Given the description of an element on the screen output the (x, y) to click on. 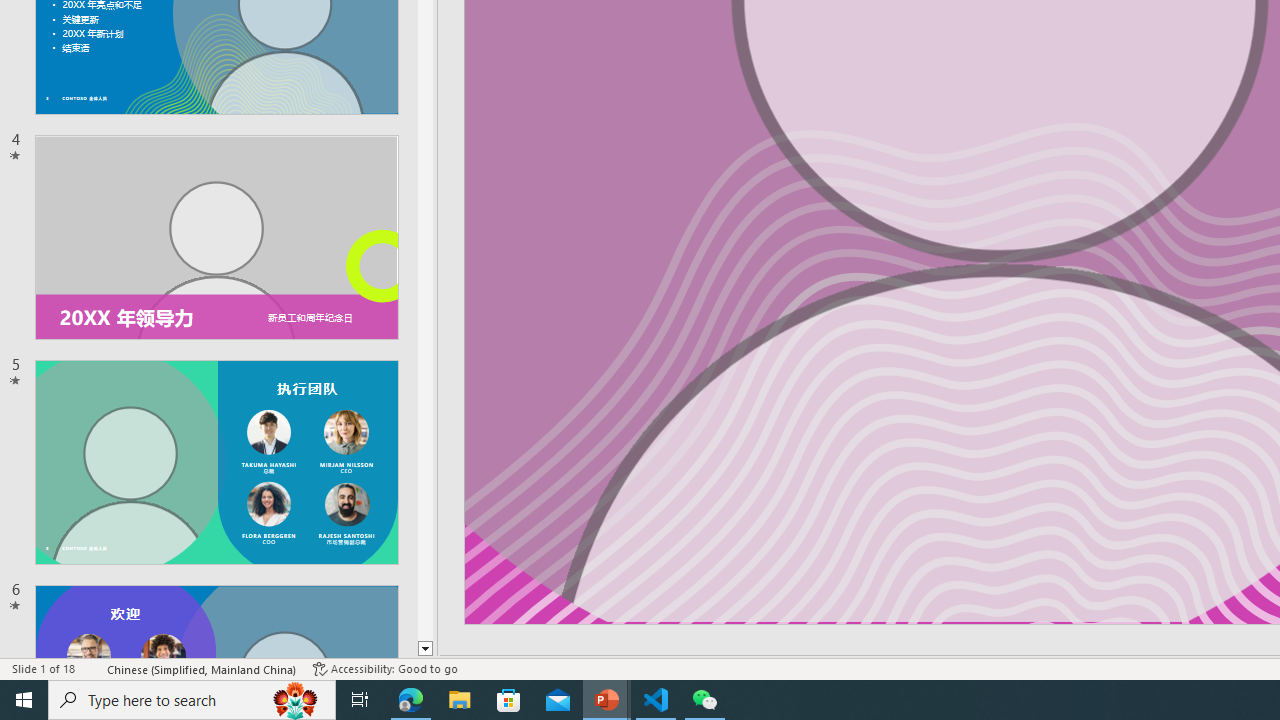
Accessibility Checker Accessibility: Good to go (384, 668)
Spell Check  (92, 668)
